Given the description of an element on the screen output the (x, y) to click on. 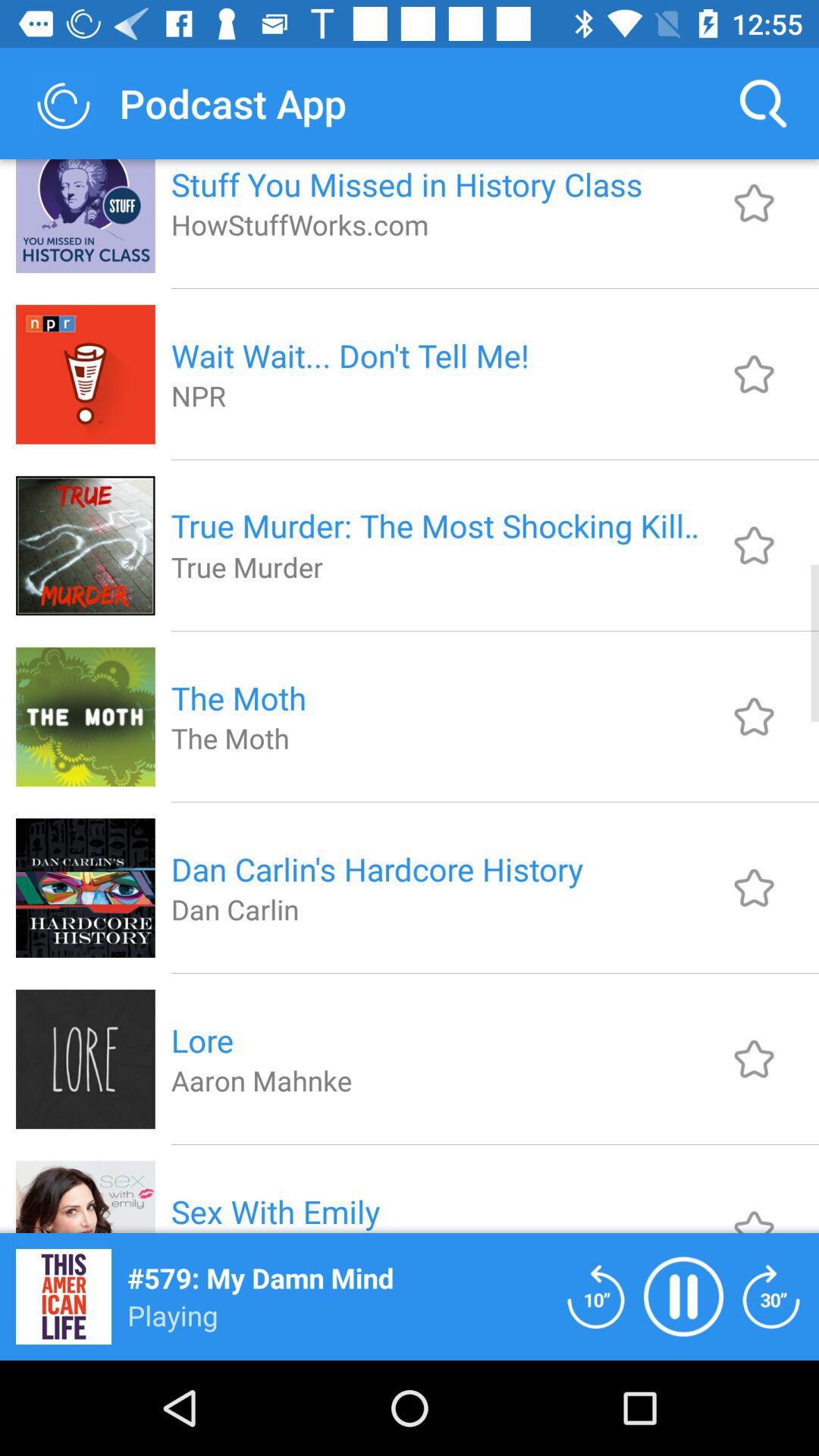
give star rating (754, 716)
